Given the description of an element on the screen output the (x, y) to click on. 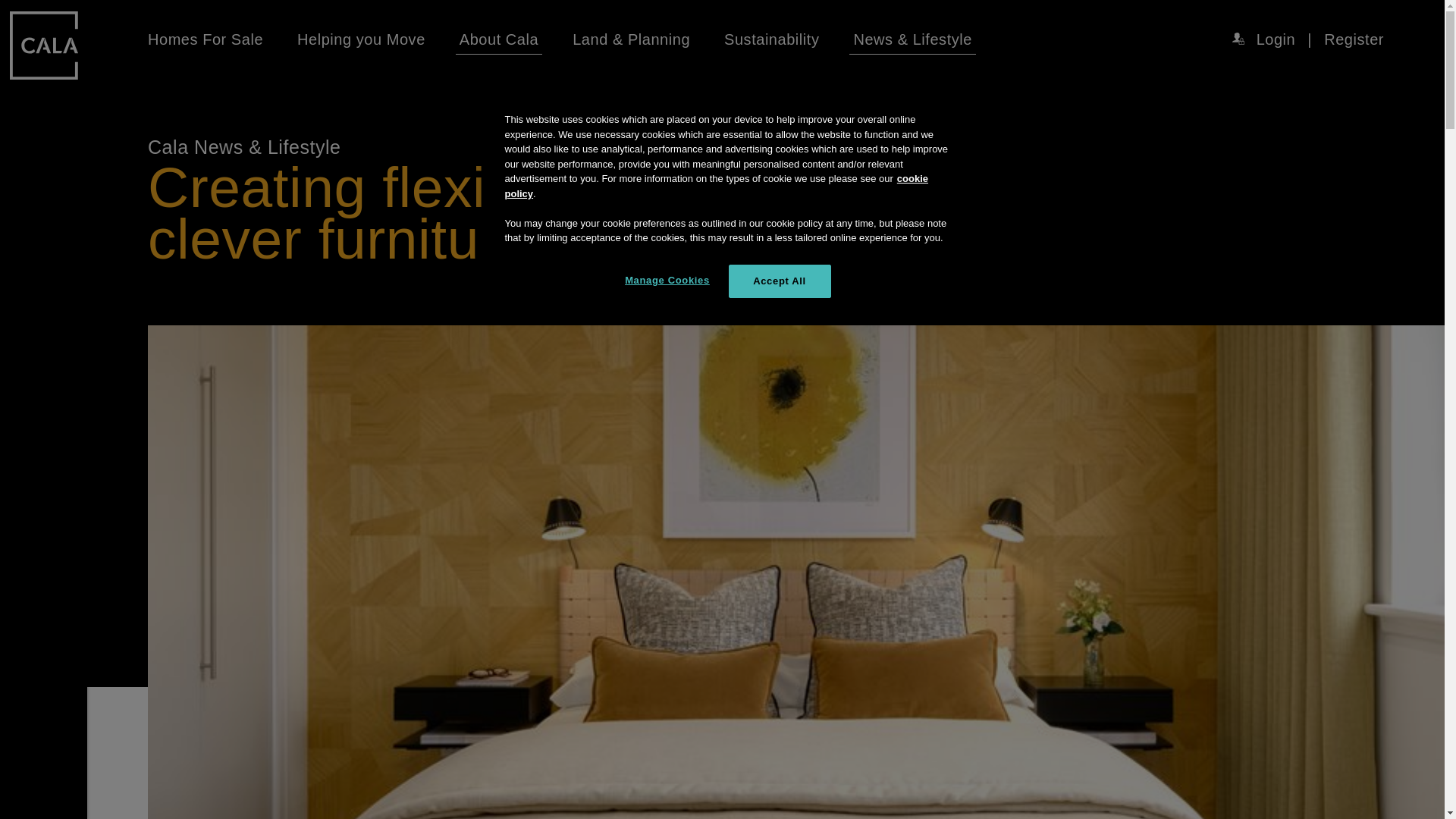
Customer reviews powered by Trustpilot (1270, 690)
Homes For Sale (205, 39)
Sustainability (771, 39)
Helping you Move (360, 39)
About Cala (499, 39)
